Given the description of an element on the screen output the (x, y) to click on. 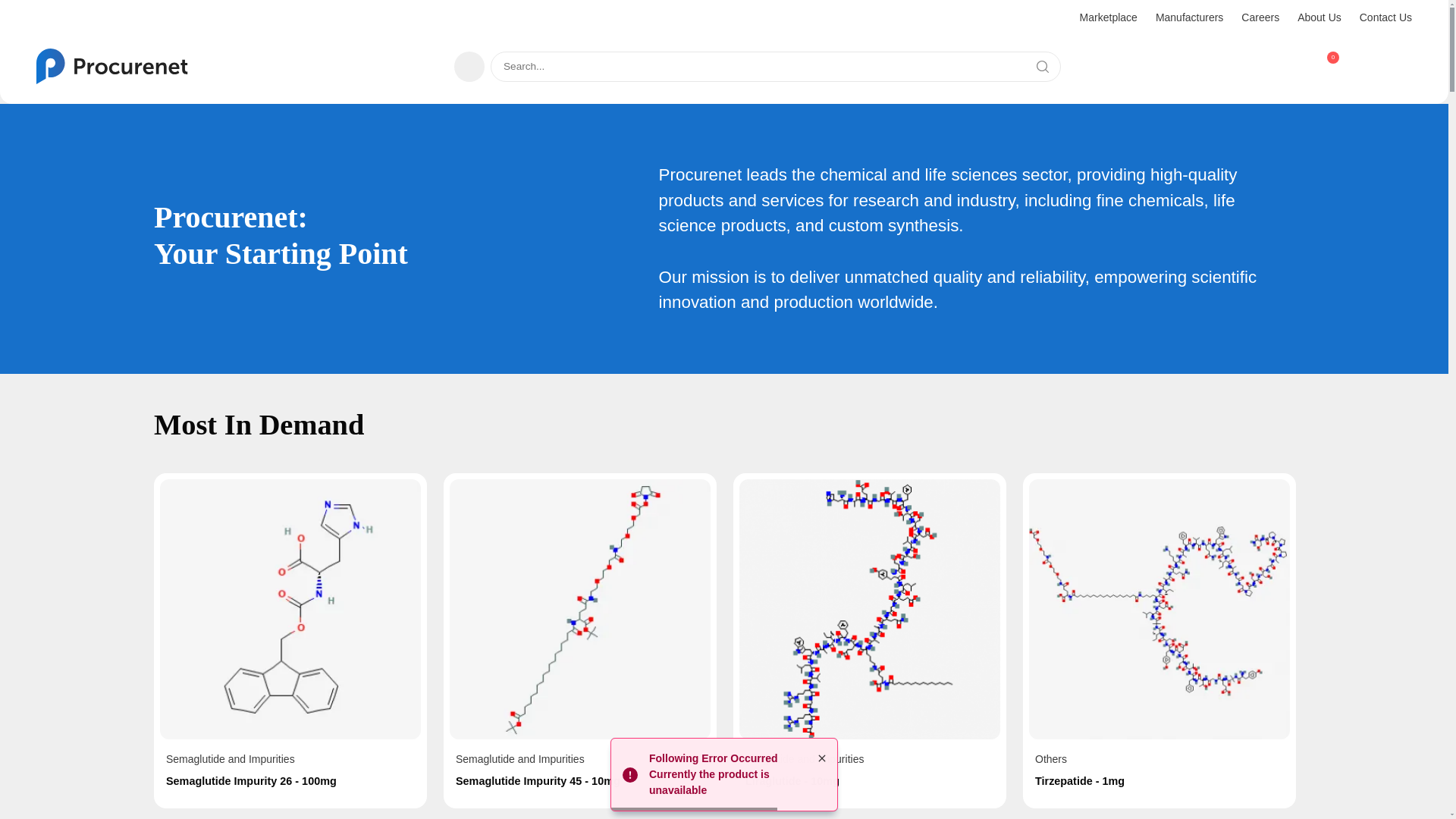
Semaglutide Impurity 45 - 10mg (579, 781)
Others (1051, 758)
Liraglutide - 10mg (869, 781)
Semaglutide Impurity 26 - 100mg (289, 781)
Semaglutide and Impurities (520, 758)
Careers (1260, 20)
Contact Us (1385, 20)
Others (1159, 609)
About Us (1318, 20)
Semaglutide and Impurities (579, 609)
Semaglutide and Impurities (230, 758)
Tirzepatide - 1mg (1159, 781)
Tirzepatide - 1mg (1159, 781)
Liraglutide - 10mg (869, 781)
Manufacturers (1189, 20)
